Given the description of an element on the screen output the (x, y) to click on. 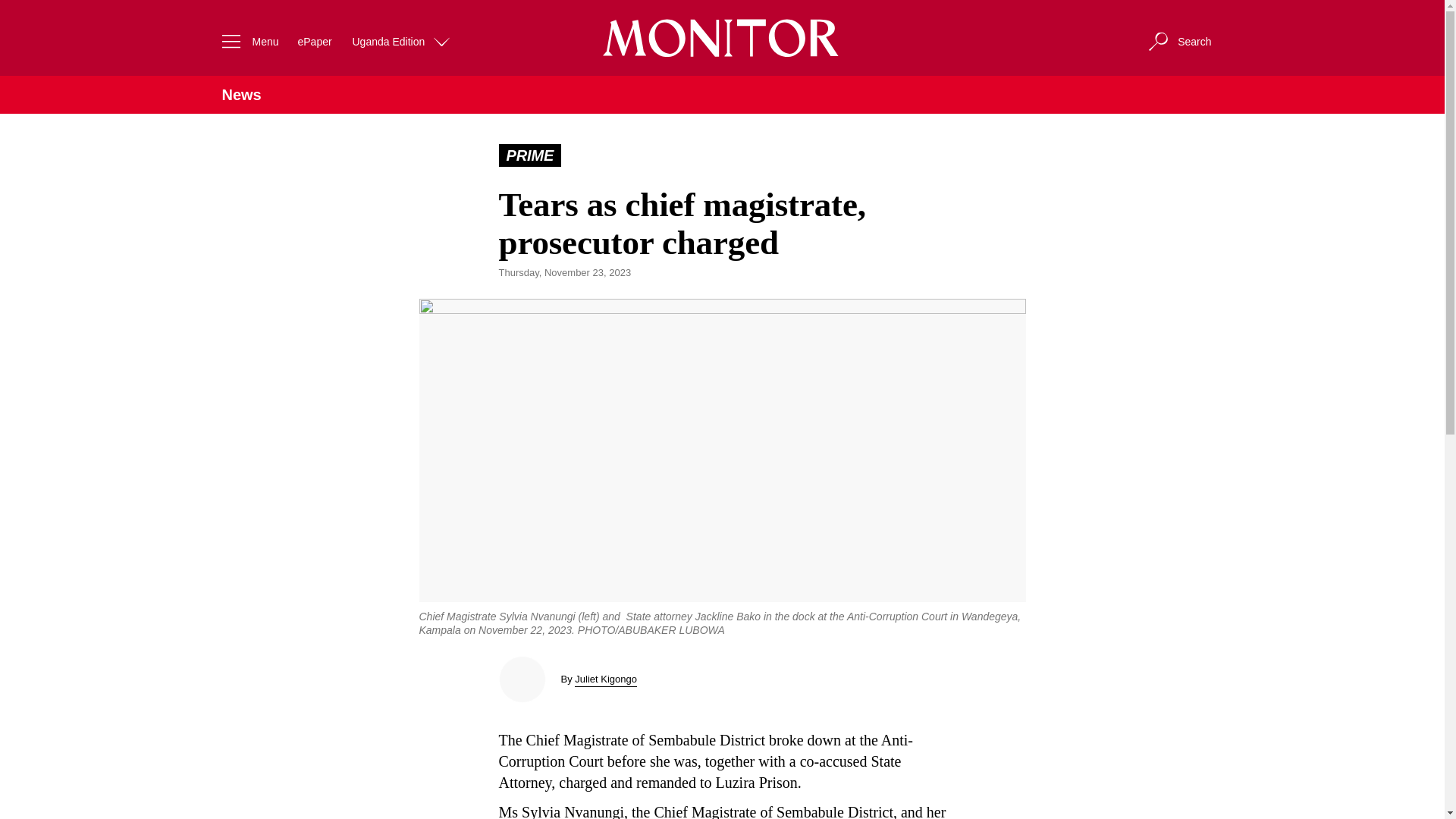
Uganda Edition (401, 41)
News (240, 94)
Menu (246, 41)
ePaper (314, 41)
Search (1178, 41)
